Given the description of an element on the screen output the (x, y) to click on. 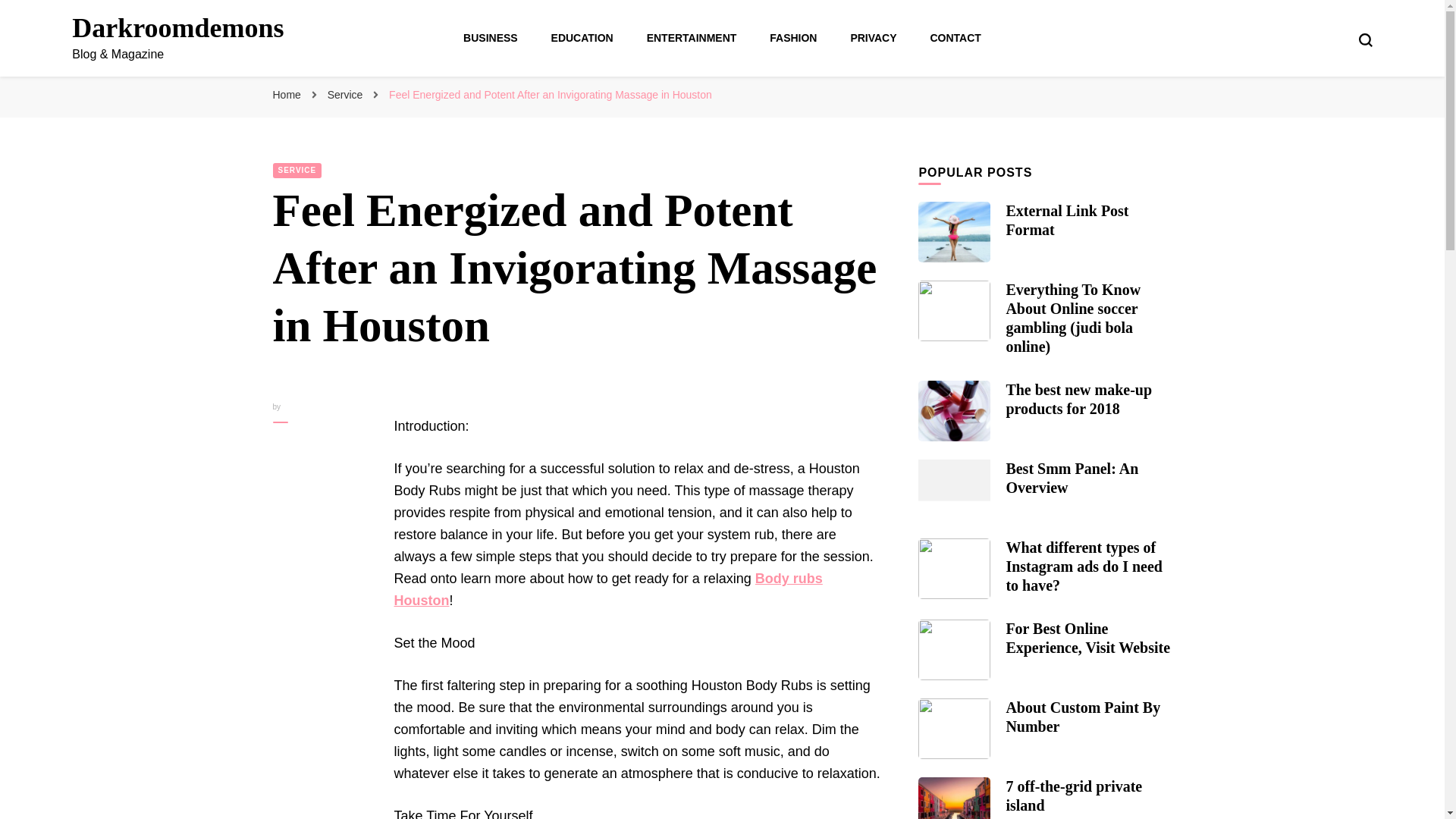
Home (287, 94)
FASHION (793, 37)
External Link Post Format (1067, 220)
Body rubs Houston (608, 589)
BUSINESS (490, 37)
PRIVACY (873, 37)
ENTERTAINMENT (691, 37)
Darkroomdemons (177, 28)
Service (346, 94)
EDUCATION (581, 37)
